Given the description of an element on the screen output the (x, y) to click on. 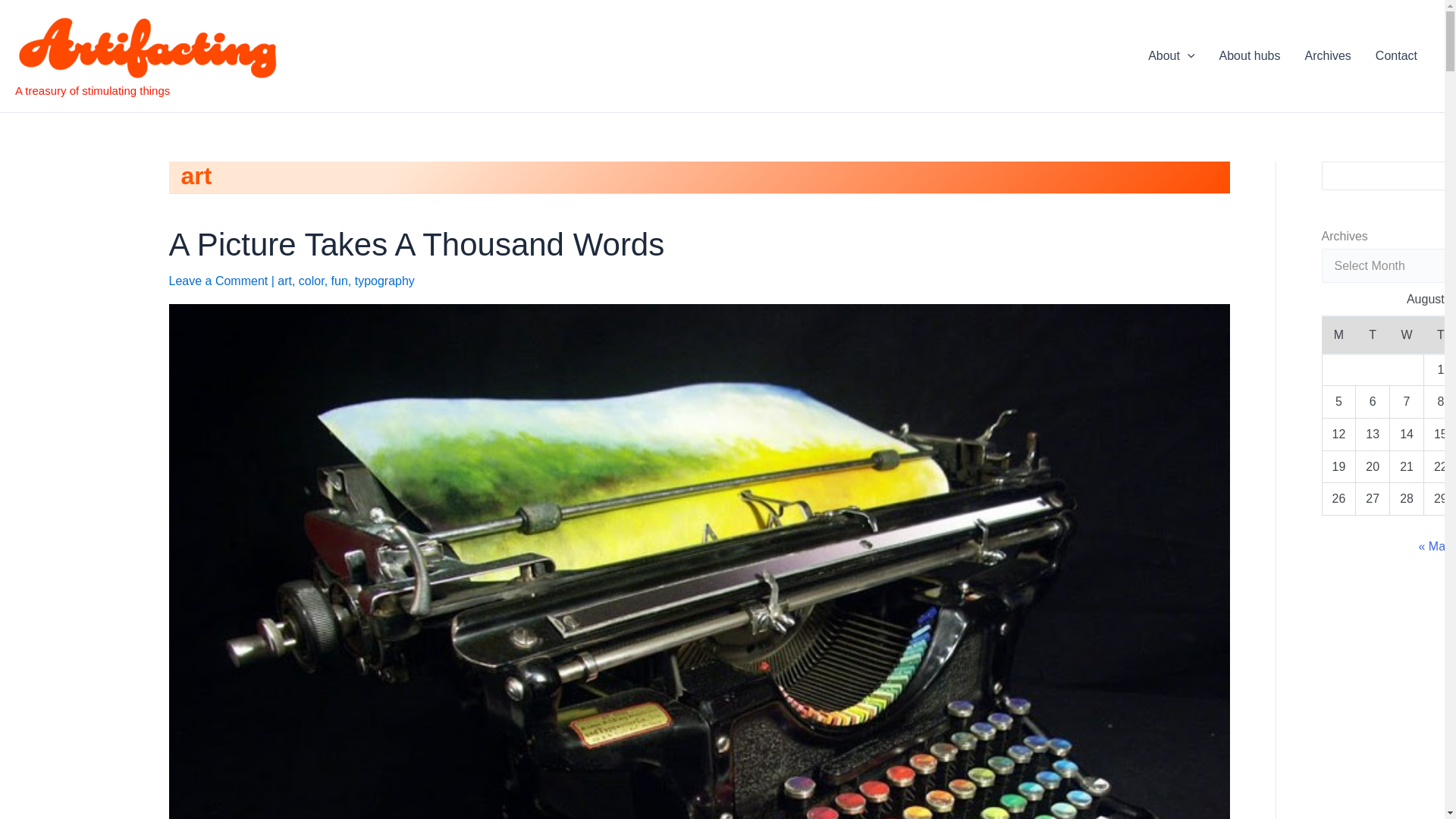
Archives (1327, 55)
Monday (1338, 334)
typography (384, 280)
color (311, 280)
Contact (1395, 55)
Wednesday (1406, 334)
Leave a Comment (217, 280)
About (1171, 55)
A Picture Takes A Thousand Words (415, 244)
Tuesday (1372, 334)
